Given the description of an element on the screen output the (x, y) to click on. 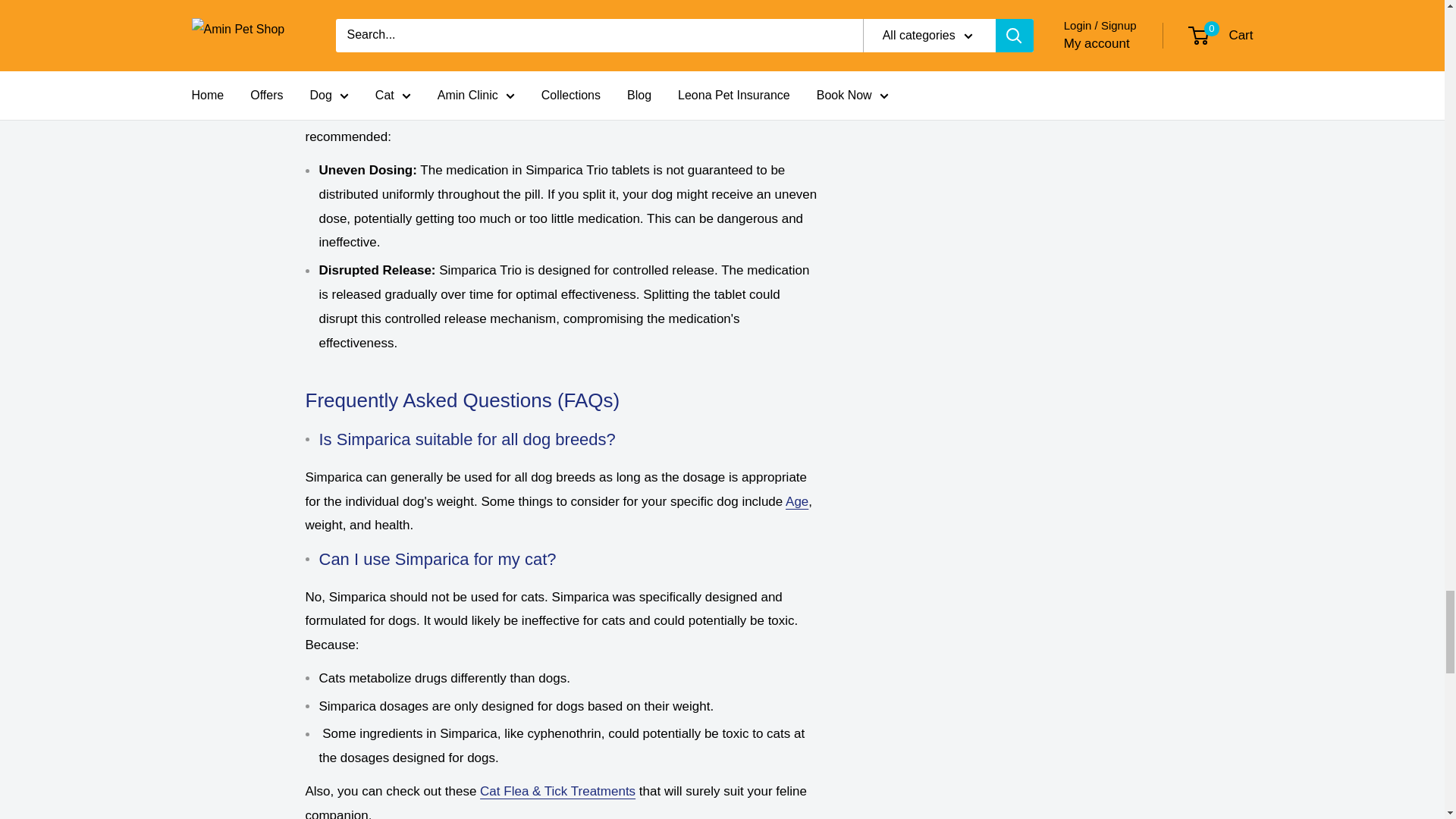
At What Age Are Dogs Considered Seniors? (797, 501)
